Given the description of an element on the screen output the (x, y) to click on. 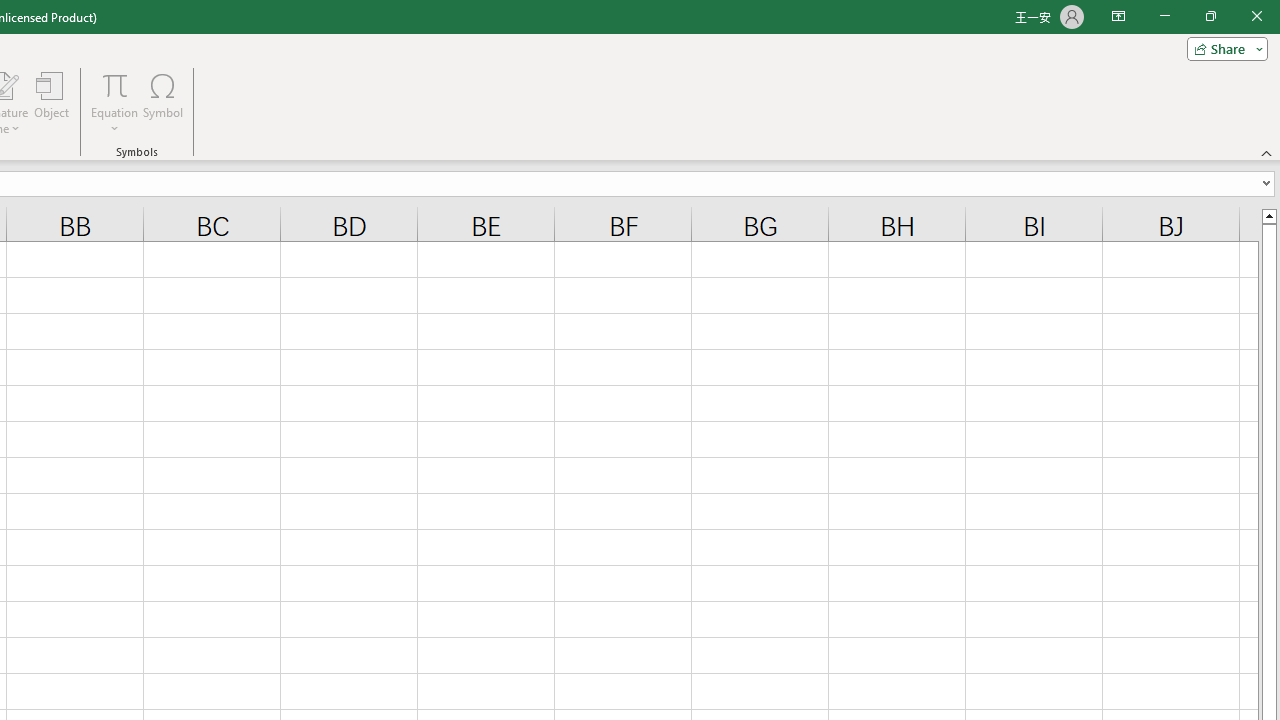
Equation (114, 102)
Symbol... (162, 102)
Object... (51, 102)
Equation (114, 84)
